Given the description of an element on the screen output the (x, y) to click on. 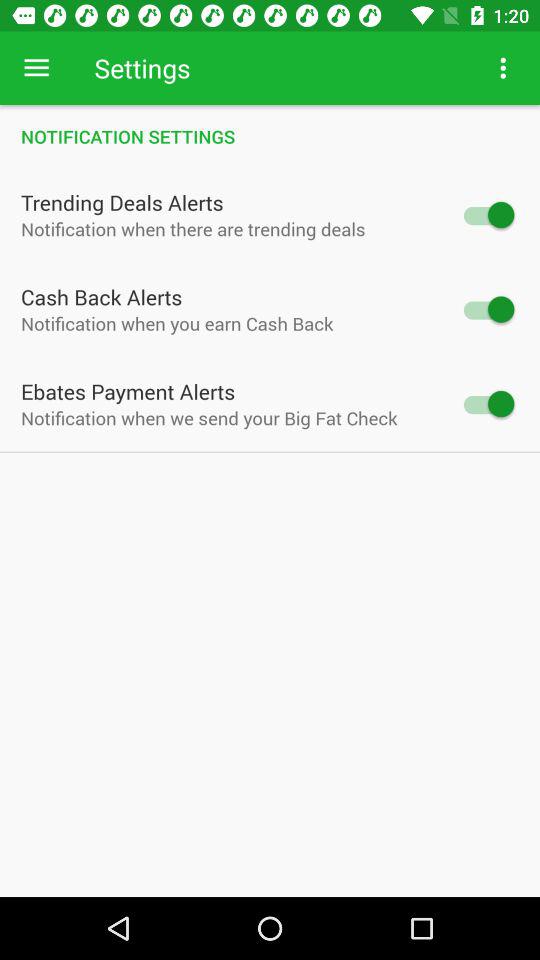
open item above notification settings item (503, 68)
